Given the description of an element on the screen output the (x, y) to click on. 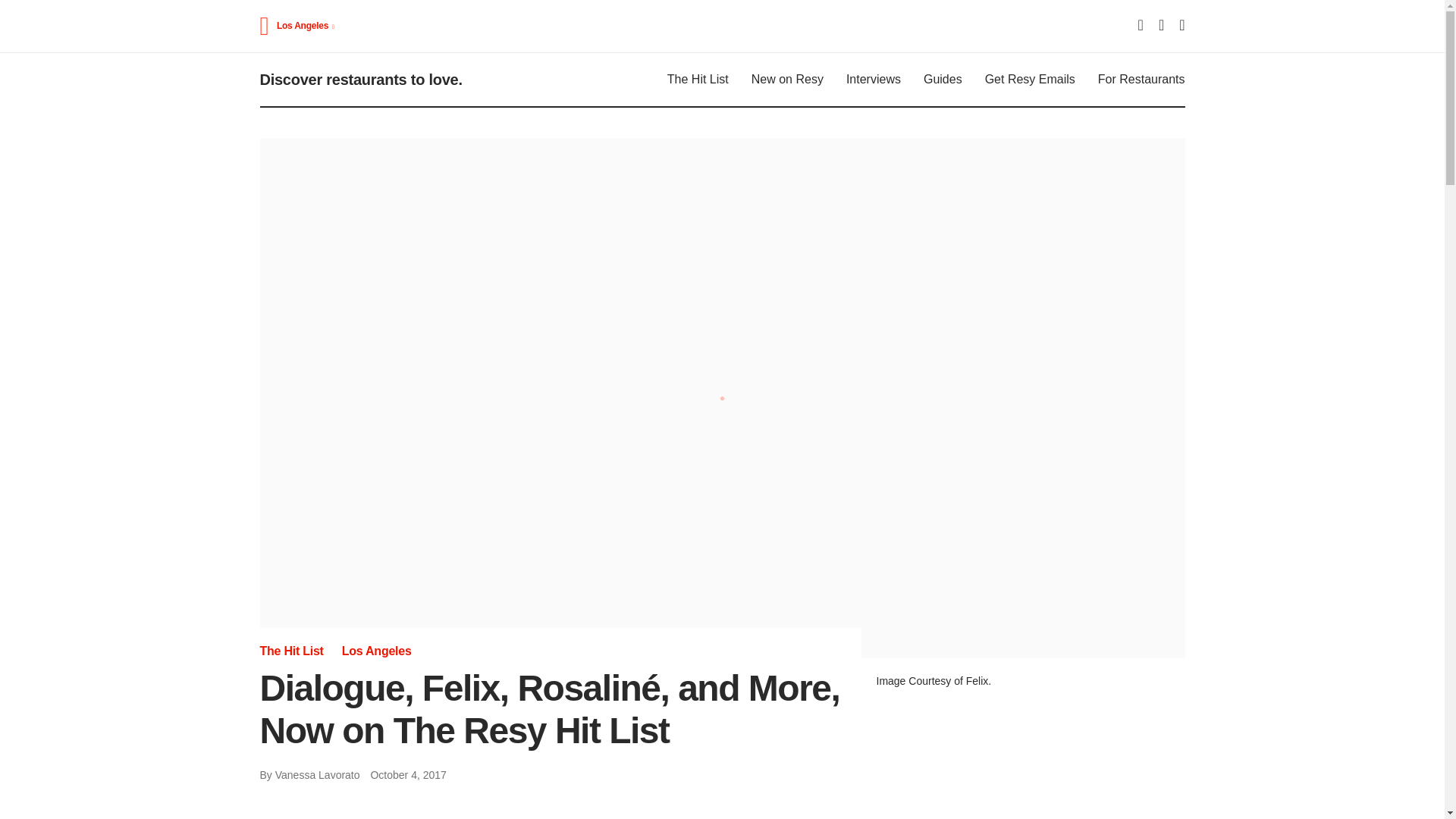
New on Resy (787, 79)
Posts by Vanessa Lavorato (317, 775)
Los Angeles (305, 25)
The Hit List (697, 79)
Discover restaurants to love. (360, 79)
